Given the description of an element on the screen output the (x, y) to click on. 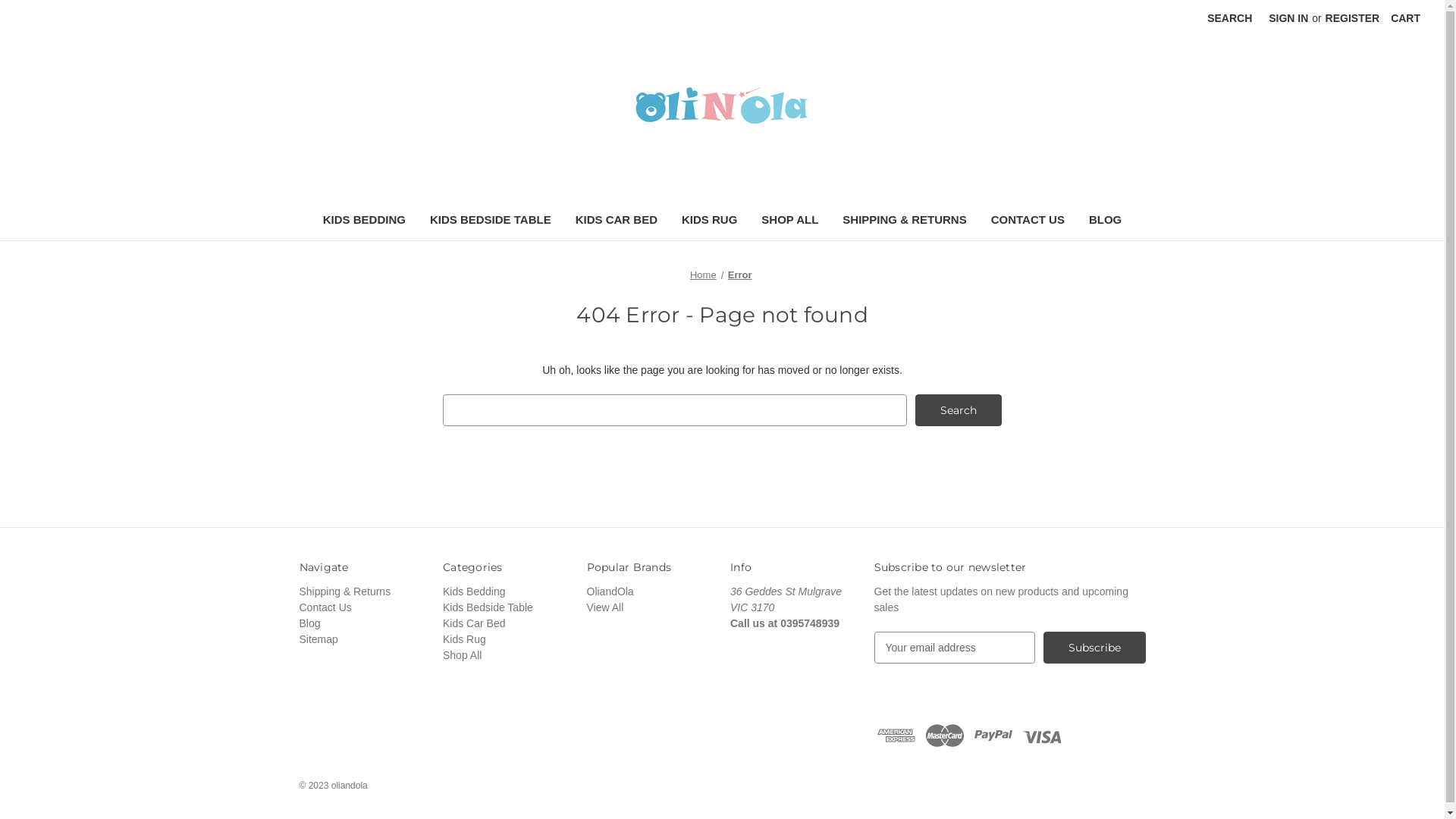
KIDS CAR BED Element type: text (616, 221)
Contact Us Element type: text (324, 607)
SHIPPING & RETURNS Element type: text (904, 221)
CART Element type: text (1405, 18)
SEARCH Element type: text (1229, 18)
REGISTER Element type: text (1352, 18)
Home Element type: text (703, 274)
Kids Car Bed Element type: text (473, 623)
Subscribe Element type: text (1094, 647)
OliandOla Element type: text (609, 591)
KIDS BEDDING Element type: text (363, 221)
KIDS RUG Element type: text (709, 221)
BLOG Element type: text (1104, 221)
Kids Bedding Element type: text (473, 591)
SHOP ALL Element type: text (789, 221)
View All Element type: text (605, 607)
KIDS BEDSIDE TABLE Element type: text (490, 221)
Kids Rug Element type: text (464, 639)
Kids Bedside Table Element type: text (487, 607)
SIGN IN Element type: text (1288, 18)
Blog Element type: text (309, 623)
Search Element type: text (958, 410)
oliandola Element type: hover (722, 104)
Sitemap Element type: text (317, 639)
Error Element type: text (740, 274)
Shipping & Returns Element type: text (344, 591)
Shop All Element type: text (461, 655)
CONTACT US Element type: text (1027, 221)
